Given the description of an element on the screen output the (x, y) to click on. 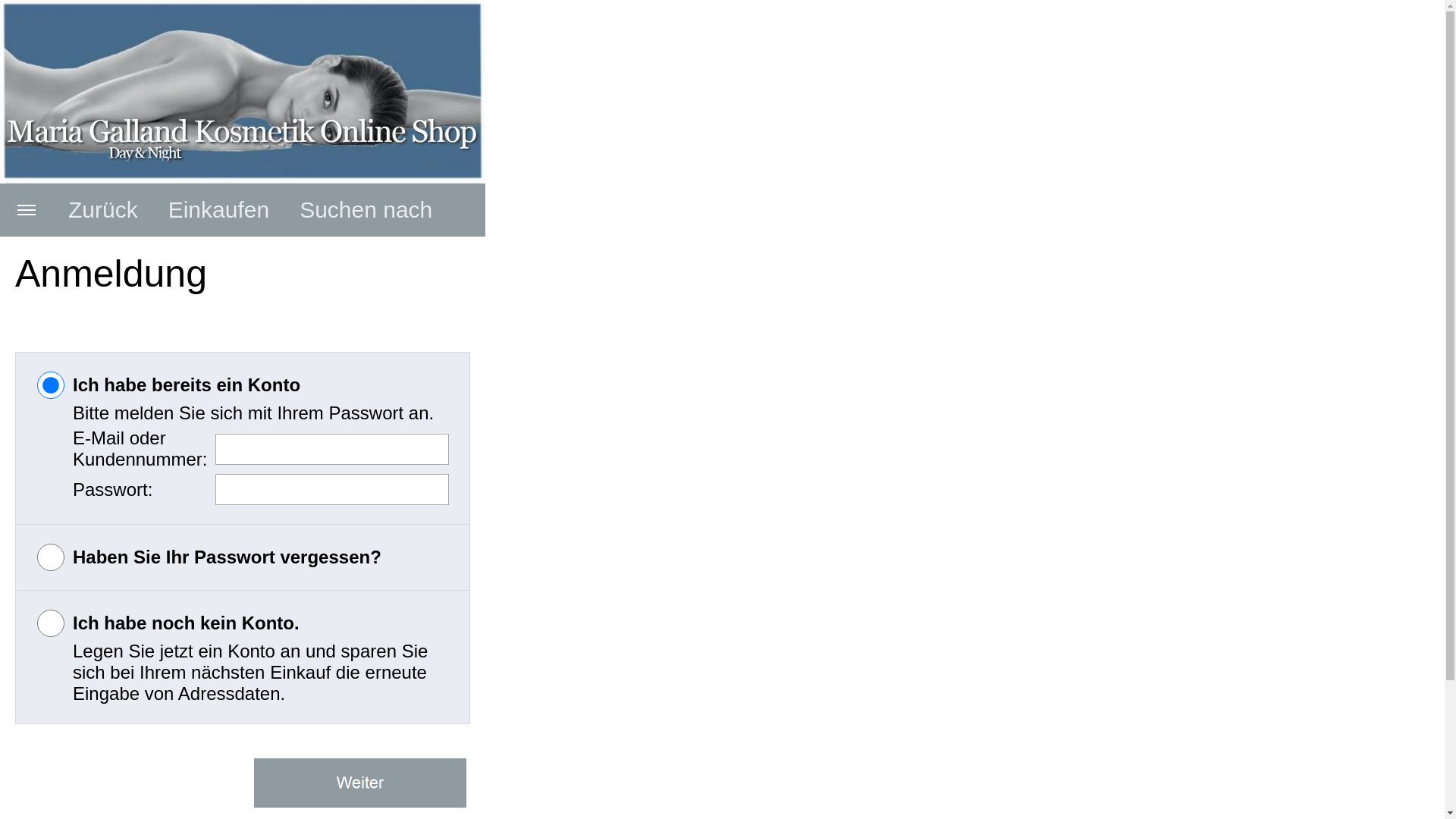
login Element type: text (50, 384)
password Element type: text (50, 557)
Suchen nach Element type: text (365, 209)
Einkaufen Element type: text (218, 209)
new Element type: text (50, 623)
Suchen nach Element type: text (404, 271)
